Given the description of an element on the screen output the (x, y) to click on. 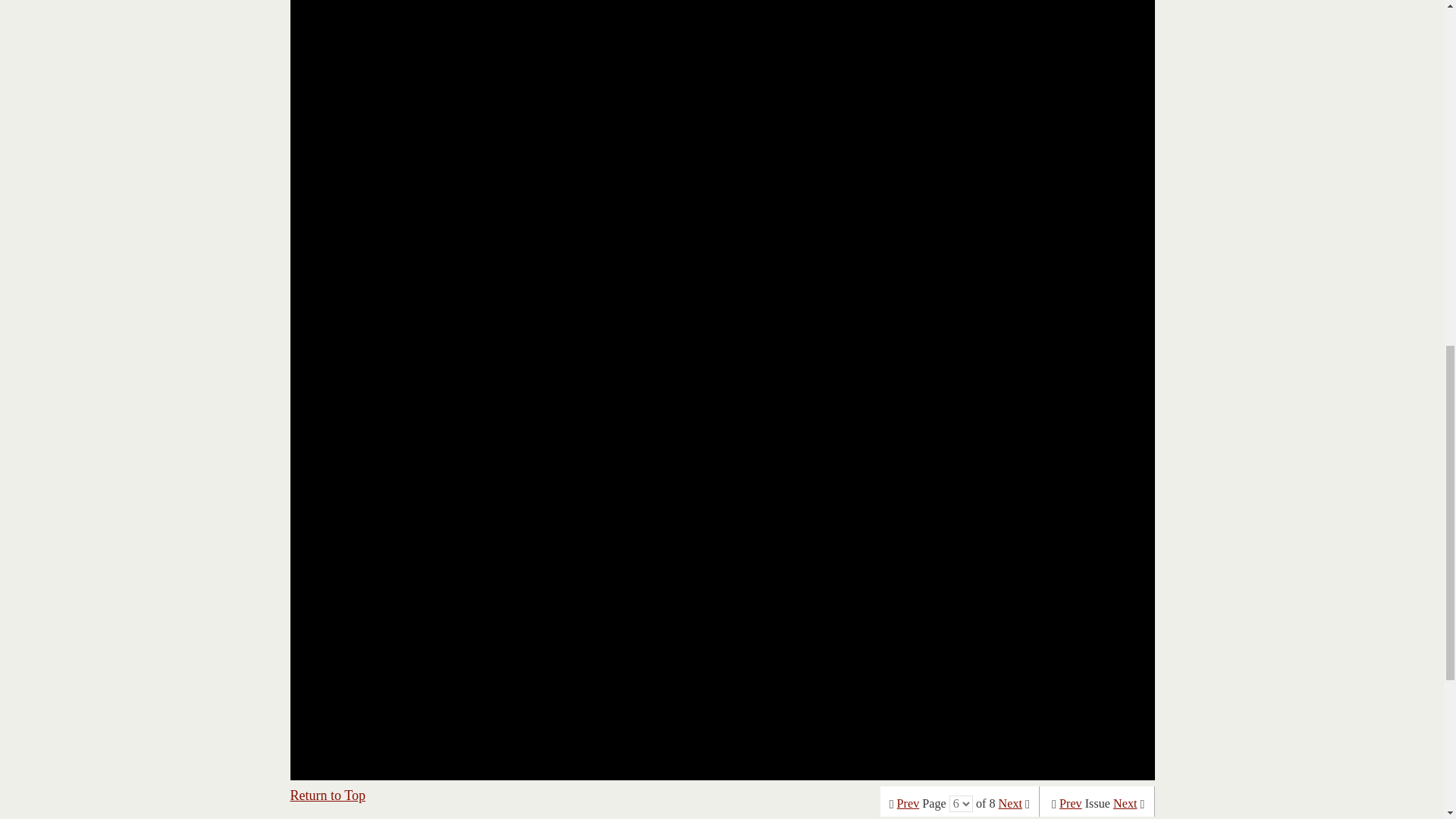
Return to Top (327, 795)
Next (1010, 803)
Prev (908, 803)
Prev (1070, 803)
Next (1125, 803)
